Given the description of an element on the screen output the (x, y) to click on. 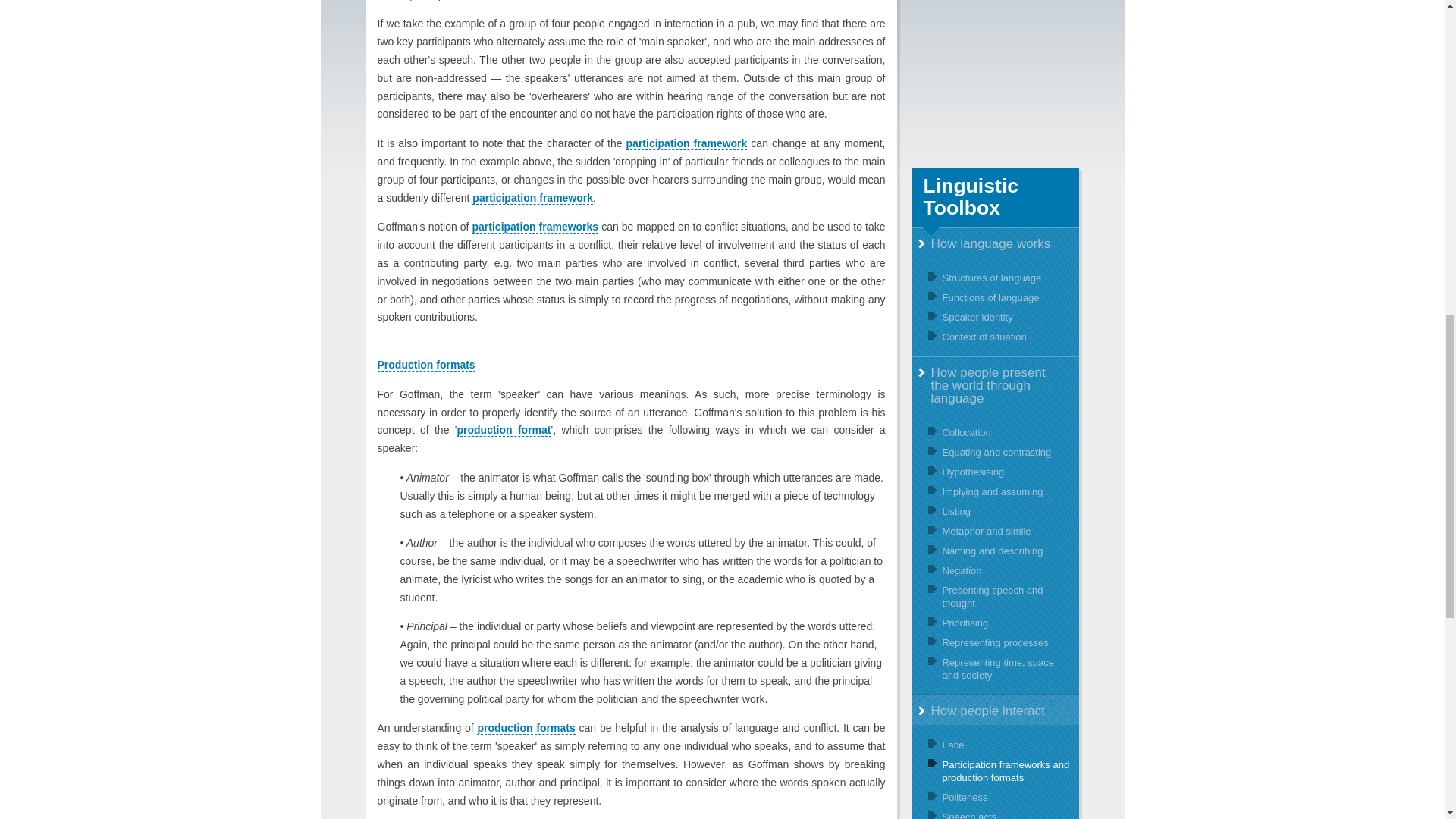
participation framework (687, 143)
production format (503, 430)
Advertisement (994, 76)
Production formats (426, 364)
production formats (526, 727)
participation frameworks (534, 226)
